Given the description of an element on the screen output the (x, y) to click on. 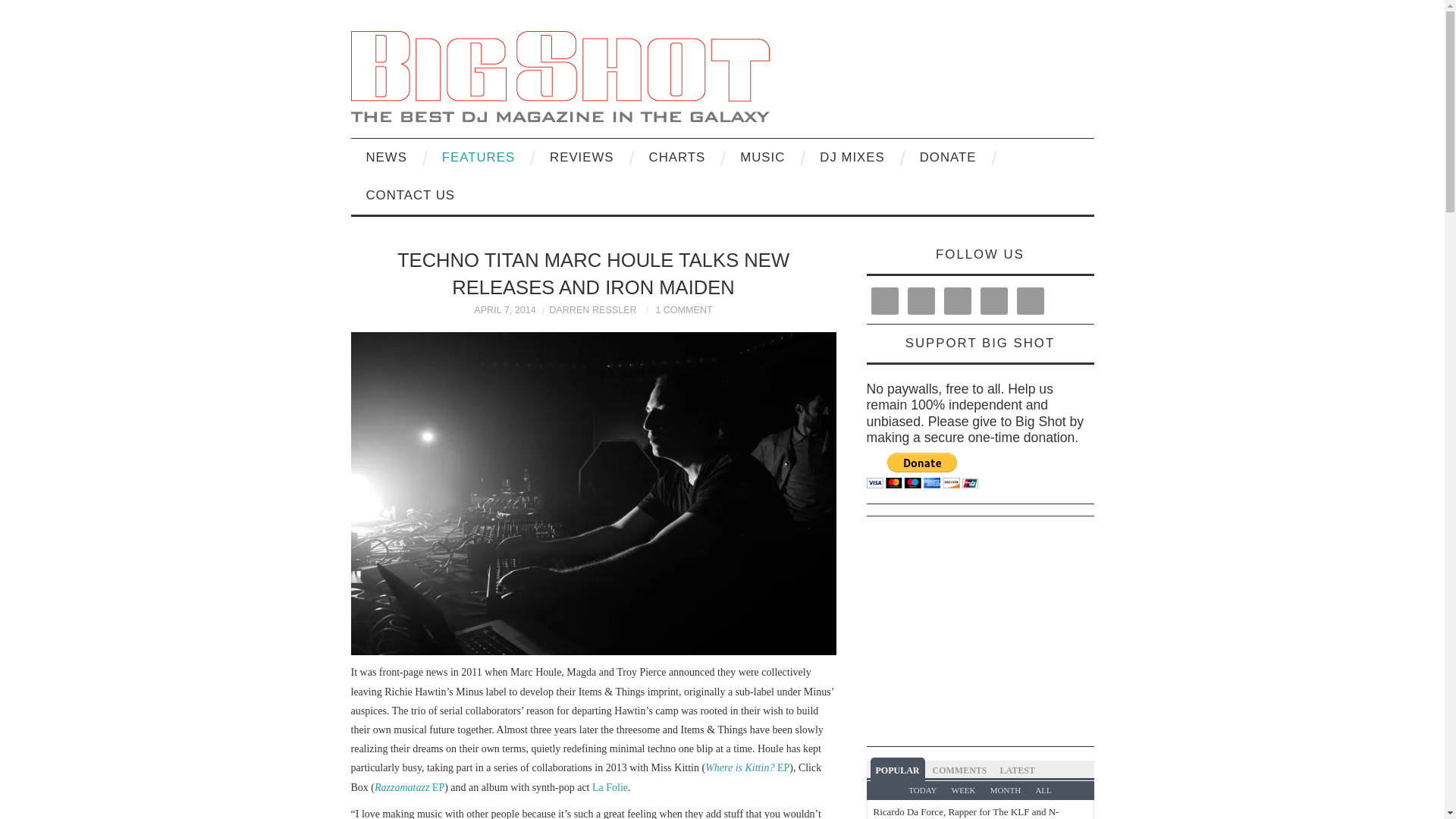
CHARTS (676, 157)
REVIEWS (581, 157)
CONTACT US (410, 195)
NEWS (386, 157)
Big Shot Magazine (560, 75)
Where is Kittin? EP (746, 767)
Charts (676, 157)
La Folie (609, 787)
DJ MIXES (852, 157)
 Music (762, 157)
